Given the description of an element on the screen output the (x, y) to click on. 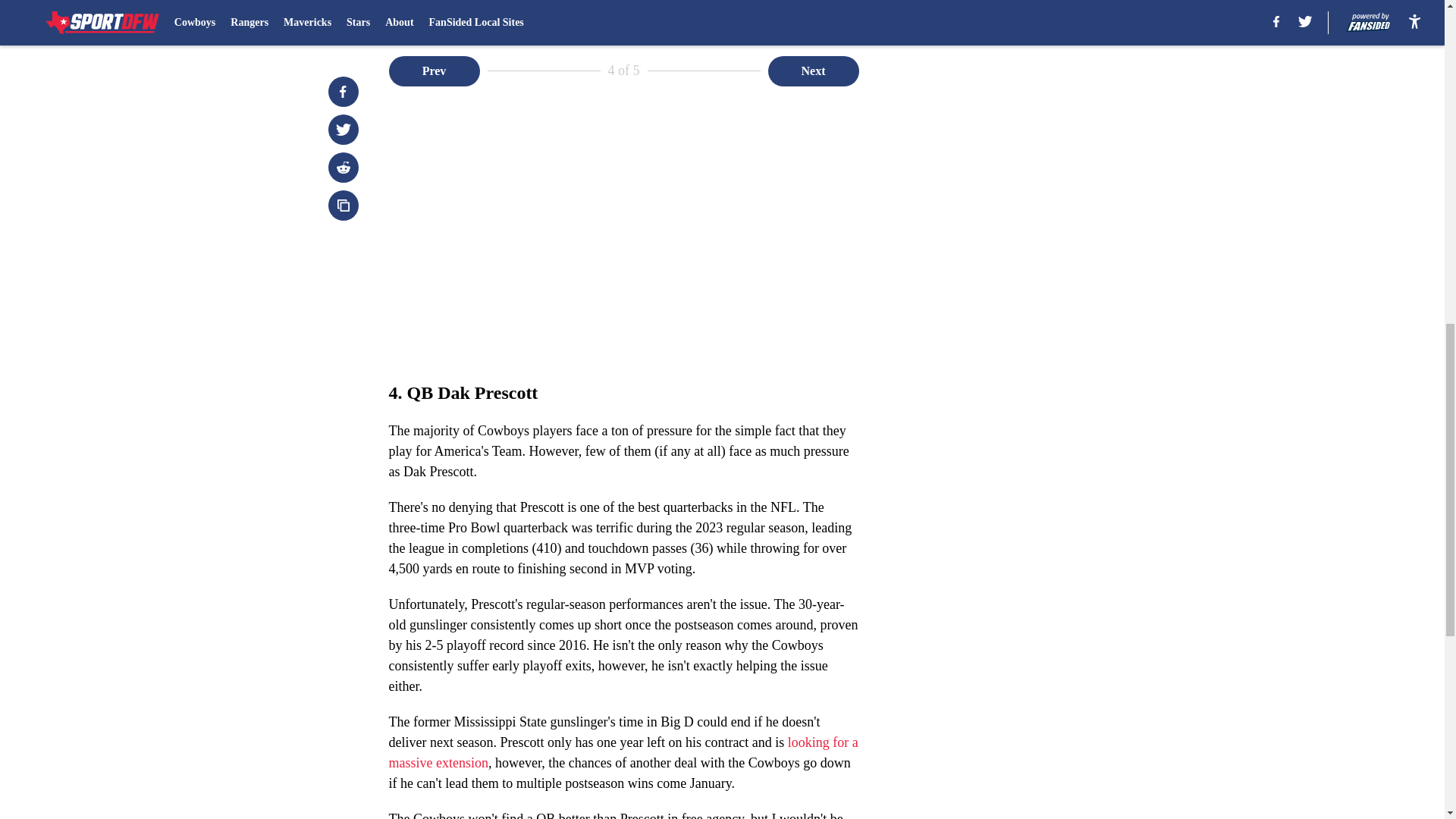
Next (813, 71)
Prev (433, 71)
looking for a massive extension (622, 752)
